Given the description of an element on the screen output the (x, y) to click on. 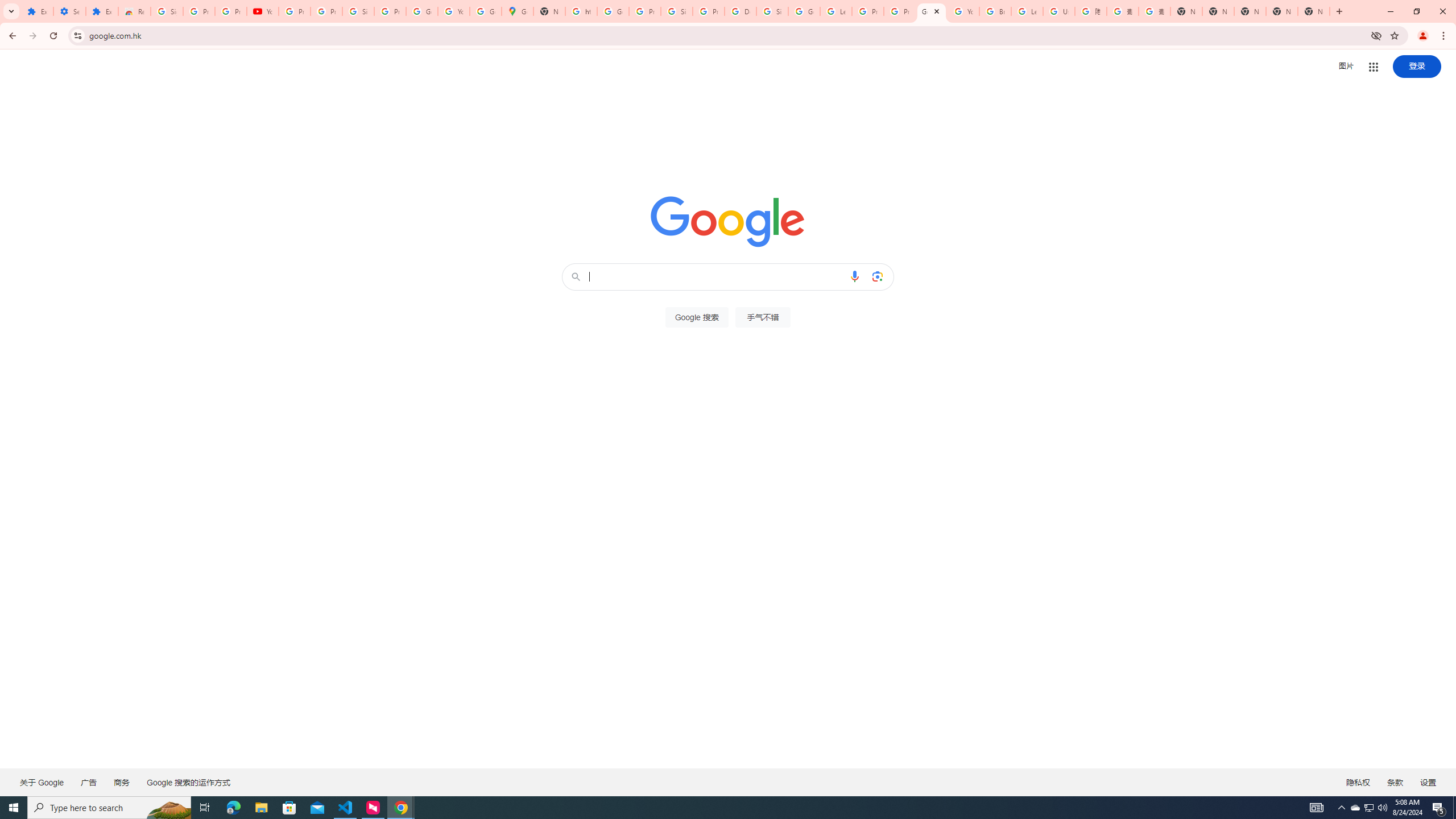
Privacy Help Center - Policies Help (899, 11)
Reviews: Helix Fruit Jump Arcade Game (134, 11)
Extensions (37, 11)
Sign in - Google Accounts (358, 11)
